Given the description of an element on the screen output the (x, y) to click on. 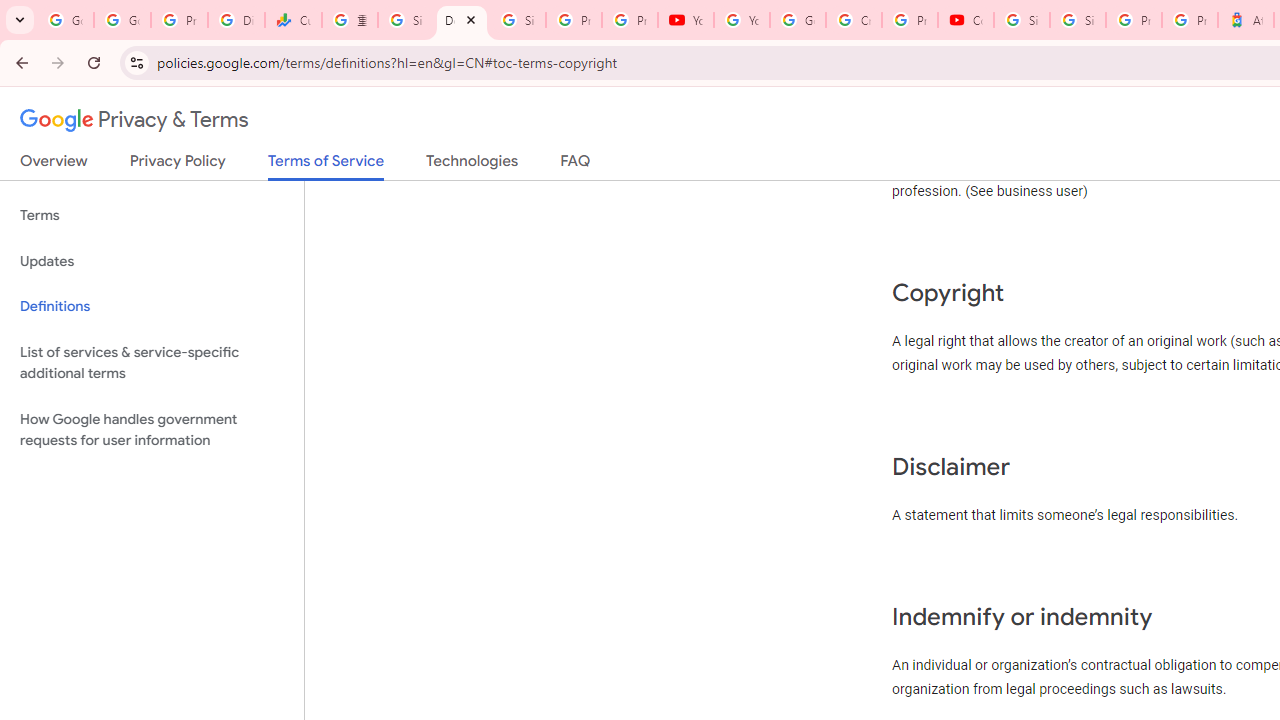
Currencies - Google Finance (293, 20)
Content Creator Programs & Opportunities - YouTube Creators (966, 20)
Create your Google Account (853, 20)
